Given the description of an element on the screen output the (x, y) to click on. 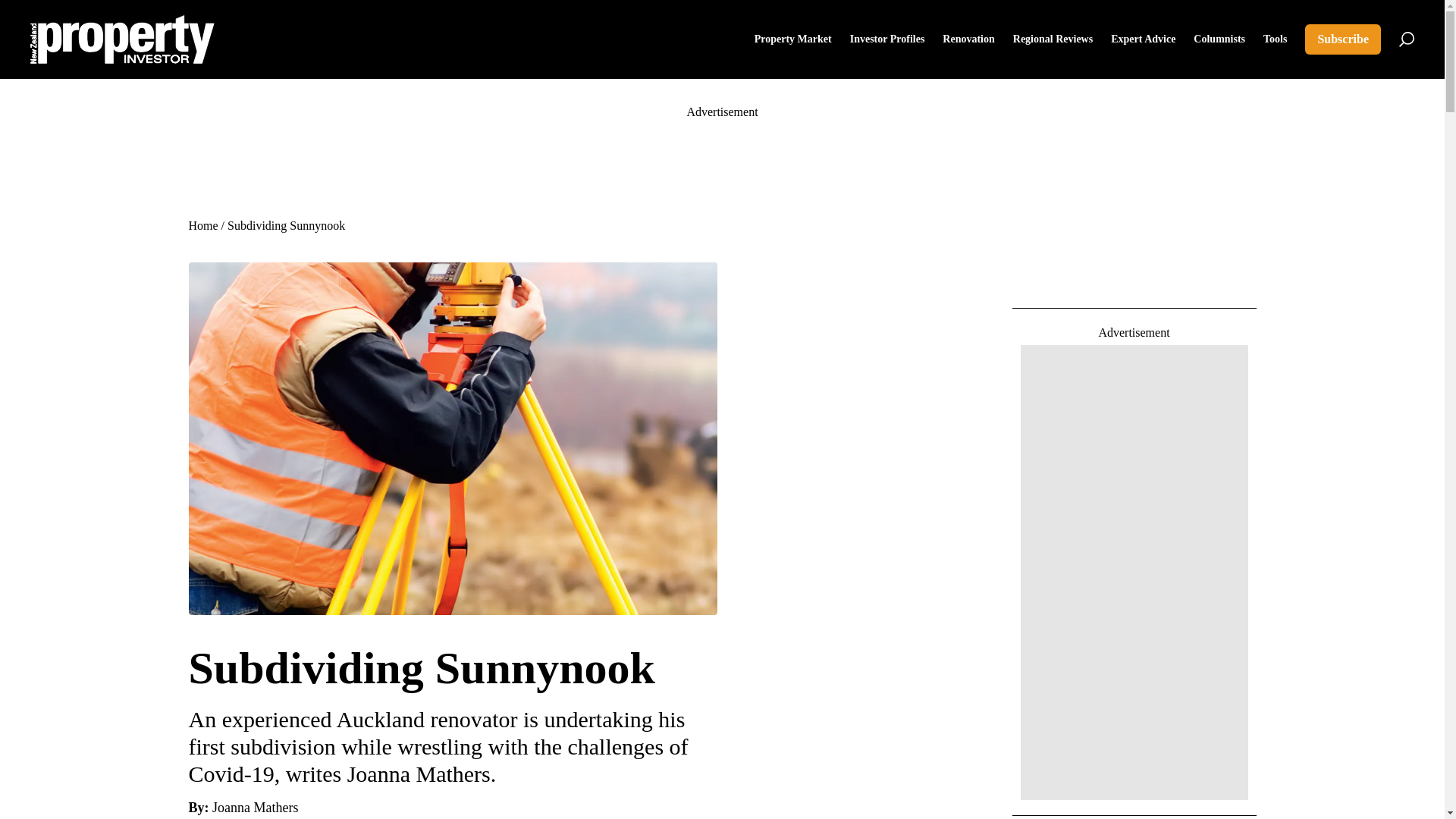
Investor Profiles (887, 39)
Subscribe (1342, 39)
Columnists (1218, 39)
Property Market (792, 39)
Expert Advice (1142, 39)
Renovation (968, 39)
Tools (1275, 39)
Home (201, 225)
Regional Reviews (1053, 39)
